Given the description of an element on the screen output the (x, y) to click on. 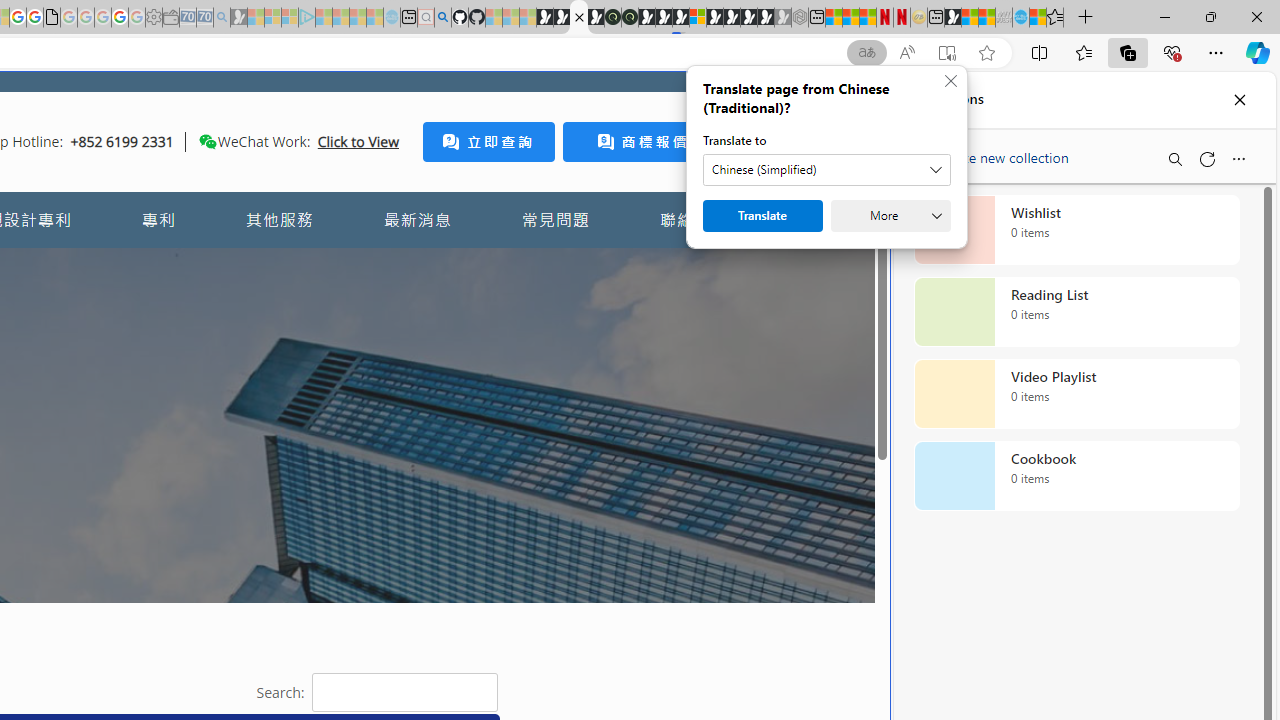
Close split screen (844, 102)
Home | Sky Blue Bikes - Sky Blue Bikes (687, 426)
Wallet - Sleeping (170, 17)
Play Zoo Boom in your browser | Games from Microsoft Start (561, 17)
github - Search (442, 17)
Tabs you've opened (276, 265)
Enter Immersive Reader (F9) (946, 53)
MSN (952, 17)
More options menu (1238, 158)
Microsoft Start Gaming - Sleeping (238, 17)
Bing Real Estate - Home sales and rental listings - Sleeping (221, 17)
